Given the description of an element on the screen output the (x, y) to click on. 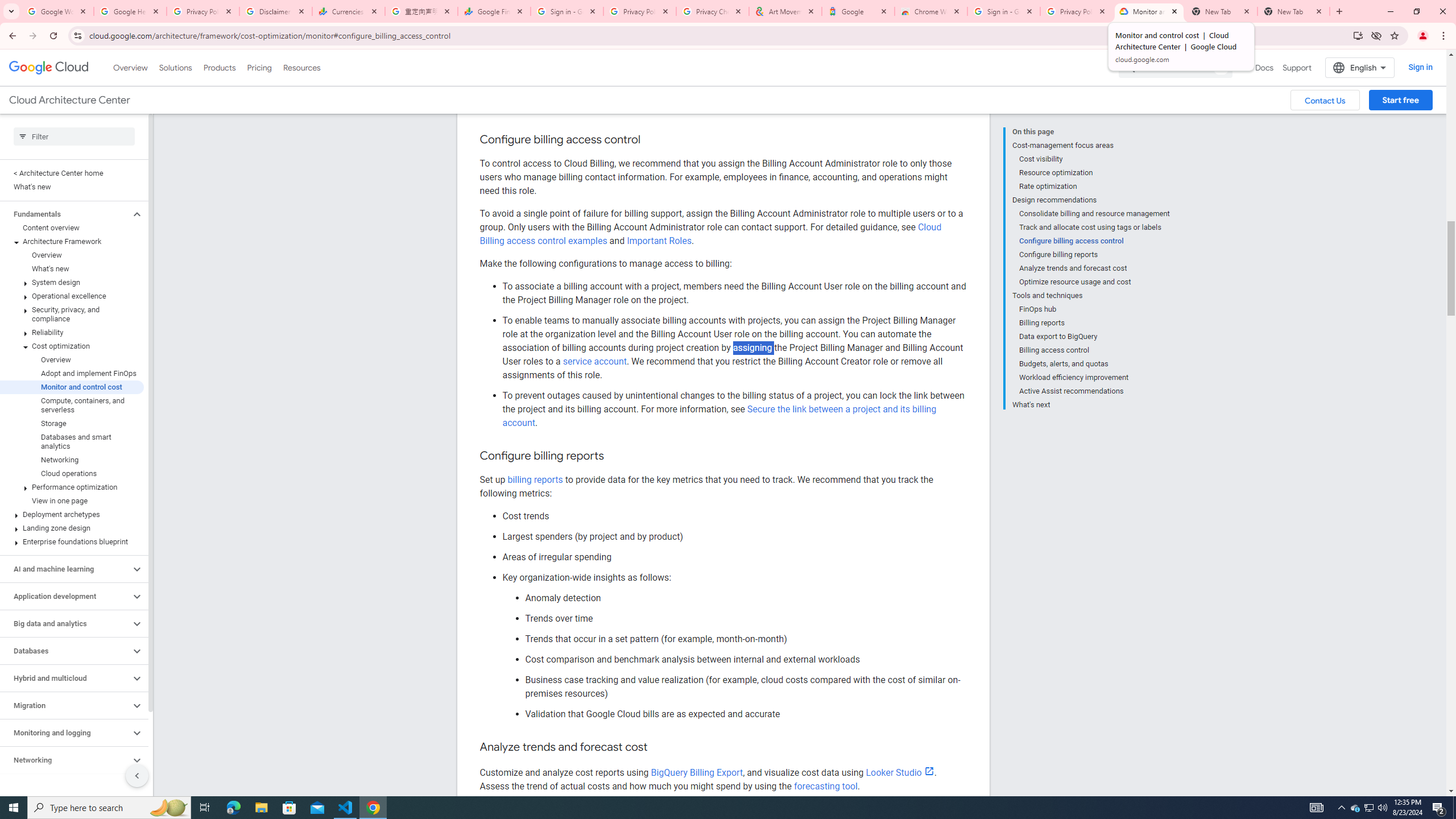
Networking (72, 459)
Data export to BigQuery (1094, 336)
Important Roles (658, 240)
Start free (1400, 100)
< Architecture Center home (72, 173)
Cloud Architecture Center (68, 100)
Billing reports (1094, 323)
Design recommendations (1090, 200)
Resources (301, 67)
Analyze trends and forecast cost (1094, 268)
Copy link to this section: Configure billing reports (614, 456)
Budgets, alerts, and quotas (1094, 364)
